Given the description of an element on the screen output the (x, y) to click on. 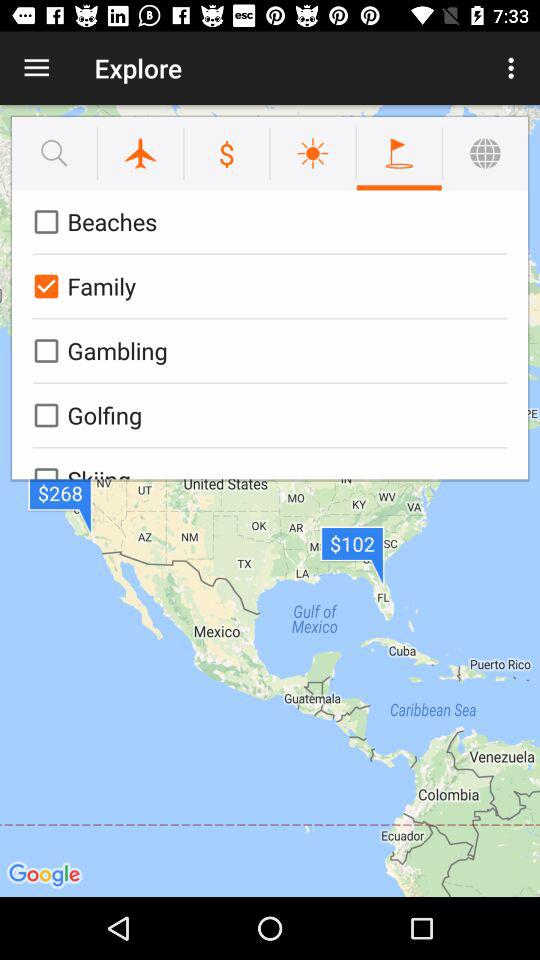
turn on icon next to explore icon (513, 67)
